Given the description of an element on the screen output the (x, y) to click on. 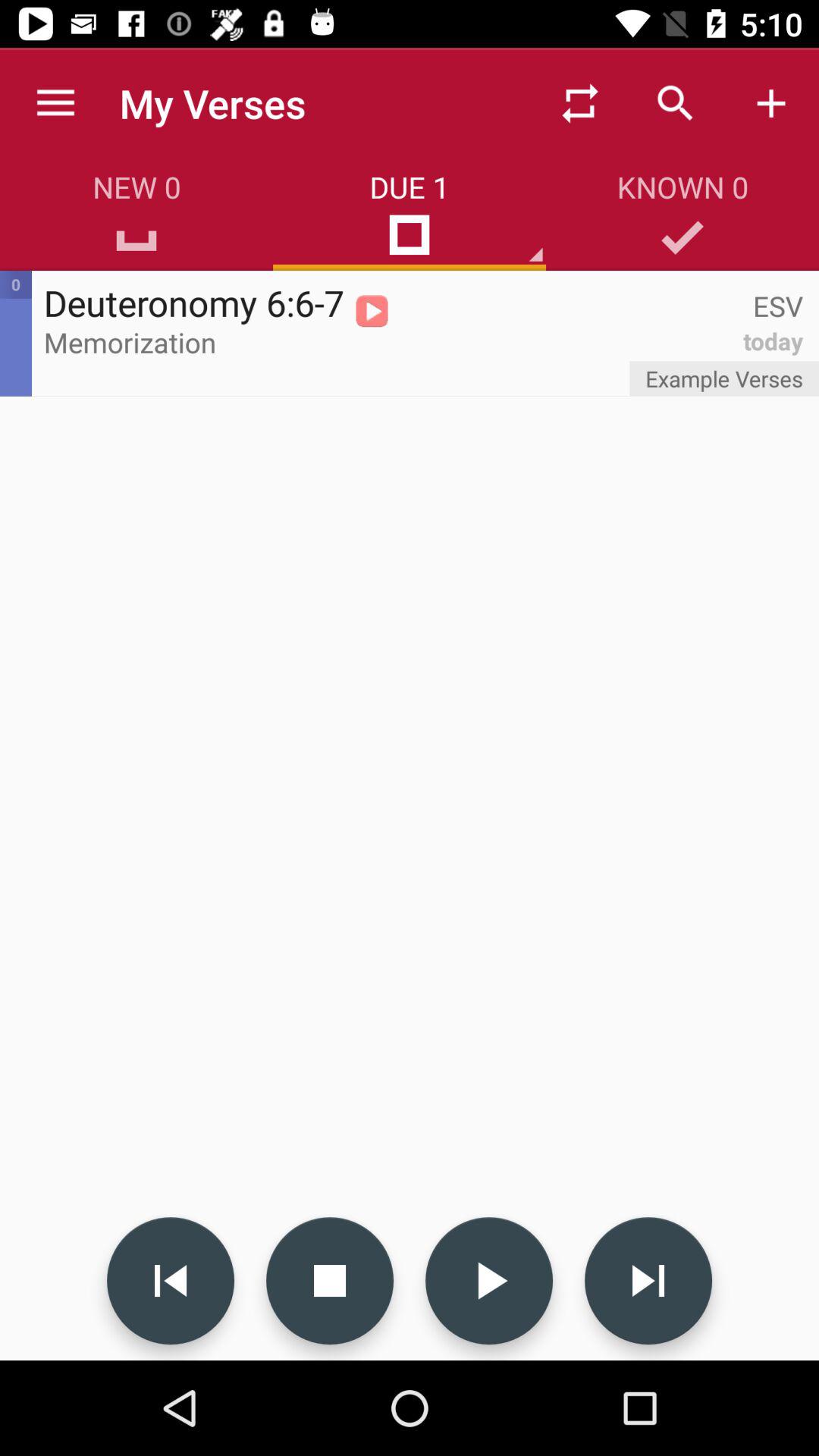
open item above the due 1 item (579, 103)
